Given the description of an element on the screen output the (x, y) to click on. 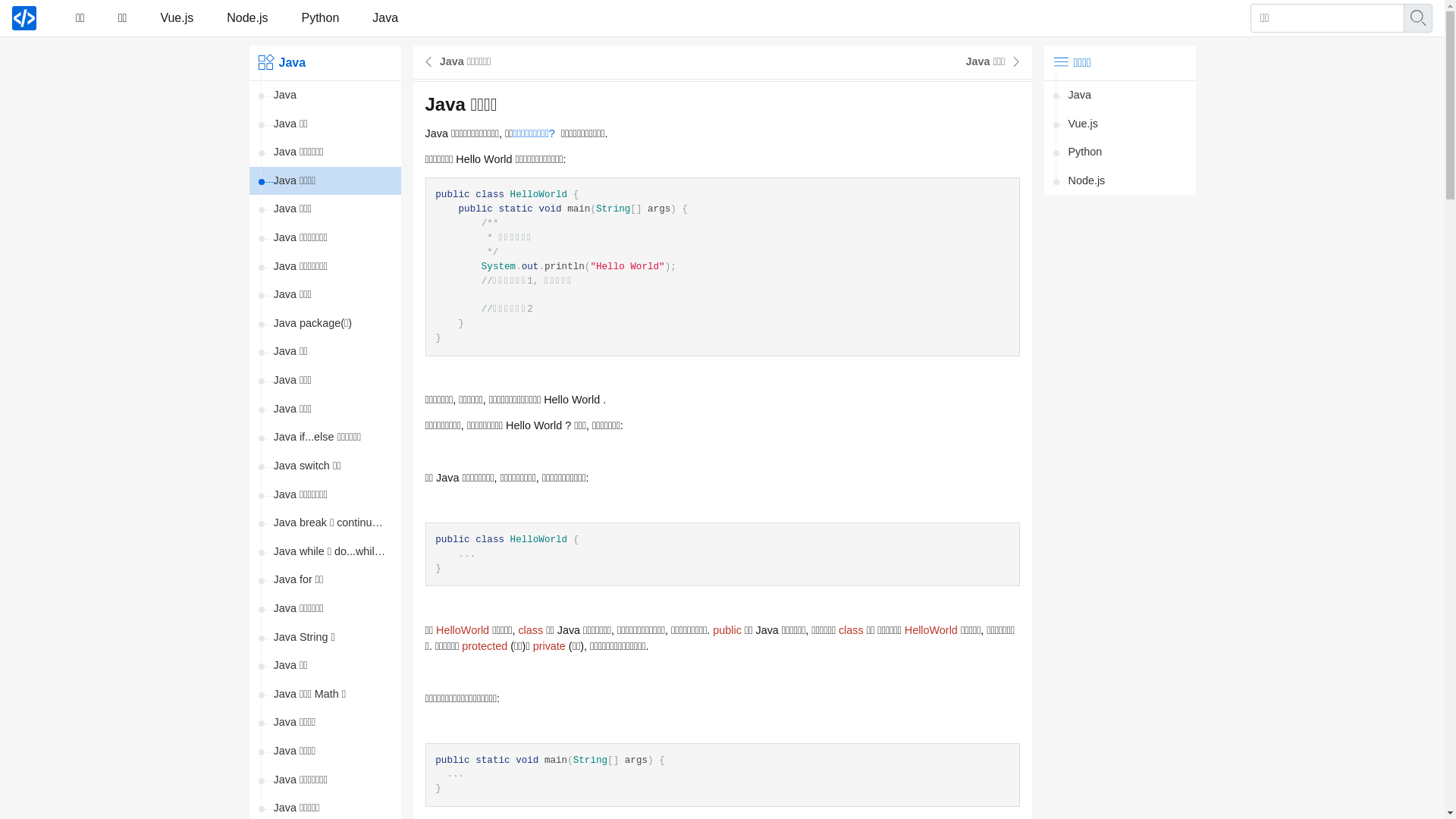
Python Element type: text (1119, 152)
Java Element type: text (324, 95)
Node.js Element type: text (246, 18)
Vue.js Element type: text (176, 18)
Java Element type: text (385, 18)
21yi.com Element type: hover (24, 18)
Java Element type: text (1119, 95)
Node.js Element type: text (1119, 180)
Vue.js Element type: text (1119, 124)
Python Element type: text (320, 18)
